Given the description of an element on the screen output the (x, y) to click on. 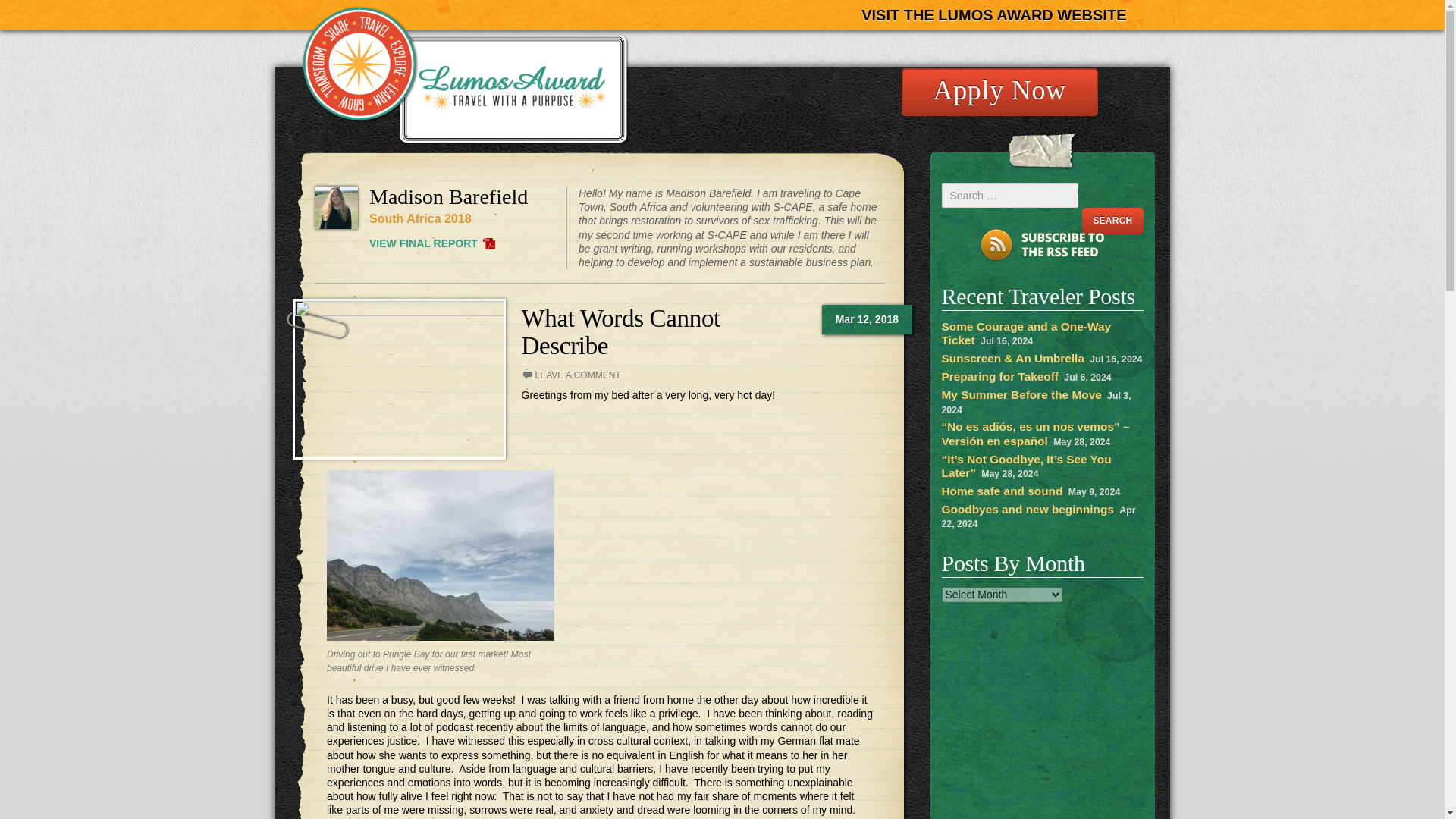
LEAVE A COMMENT (571, 375)
VISIT THE LUMOS AWARD WEBSITE (993, 15)
Search (1111, 221)
Home safe and sound (1002, 490)
VIEW FINAL REPORT (432, 243)
Apply Now (999, 91)
Subscribe to the RSS Feed (1041, 245)
Search (1111, 221)
My Summer Before the Move (1022, 394)
Mar 12, 2018 (866, 318)
Search (1111, 221)
Goodbyes and new beginnings (1027, 508)
Some Courage and a One-Way Ticket (1027, 333)
Preparing for Takeoff (1000, 376)
